Given the description of an element on the screen output the (x, y) to click on. 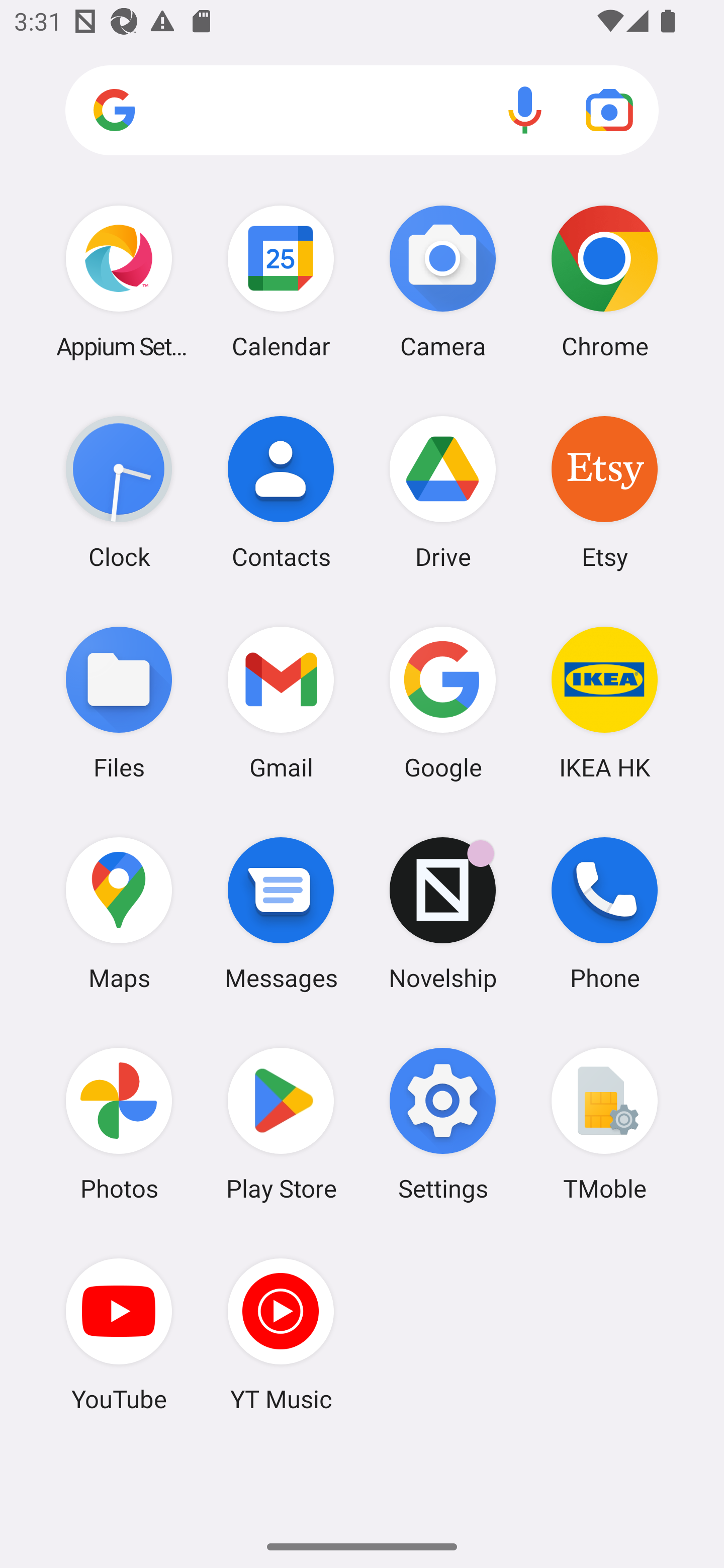
Search apps, web and more (361, 110)
Voice search (524, 109)
Google Lens (608, 109)
Appium Settings (118, 281)
Calendar (280, 281)
Camera (443, 281)
Chrome (604, 281)
Clock (118, 492)
Contacts (280, 492)
Drive (443, 492)
Etsy (604, 492)
Files (118, 702)
Gmail (280, 702)
Google (443, 702)
IKEA HK (604, 702)
Maps (118, 913)
Messages (280, 913)
Novelship Novelship has 5 notifications (443, 913)
Phone (604, 913)
Photos (118, 1124)
Play Store (280, 1124)
Settings (443, 1124)
TMoble (604, 1124)
YouTube (118, 1334)
YT Music (280, 1334)
